Given the description of an element on the screen output the (x, y) to click on. 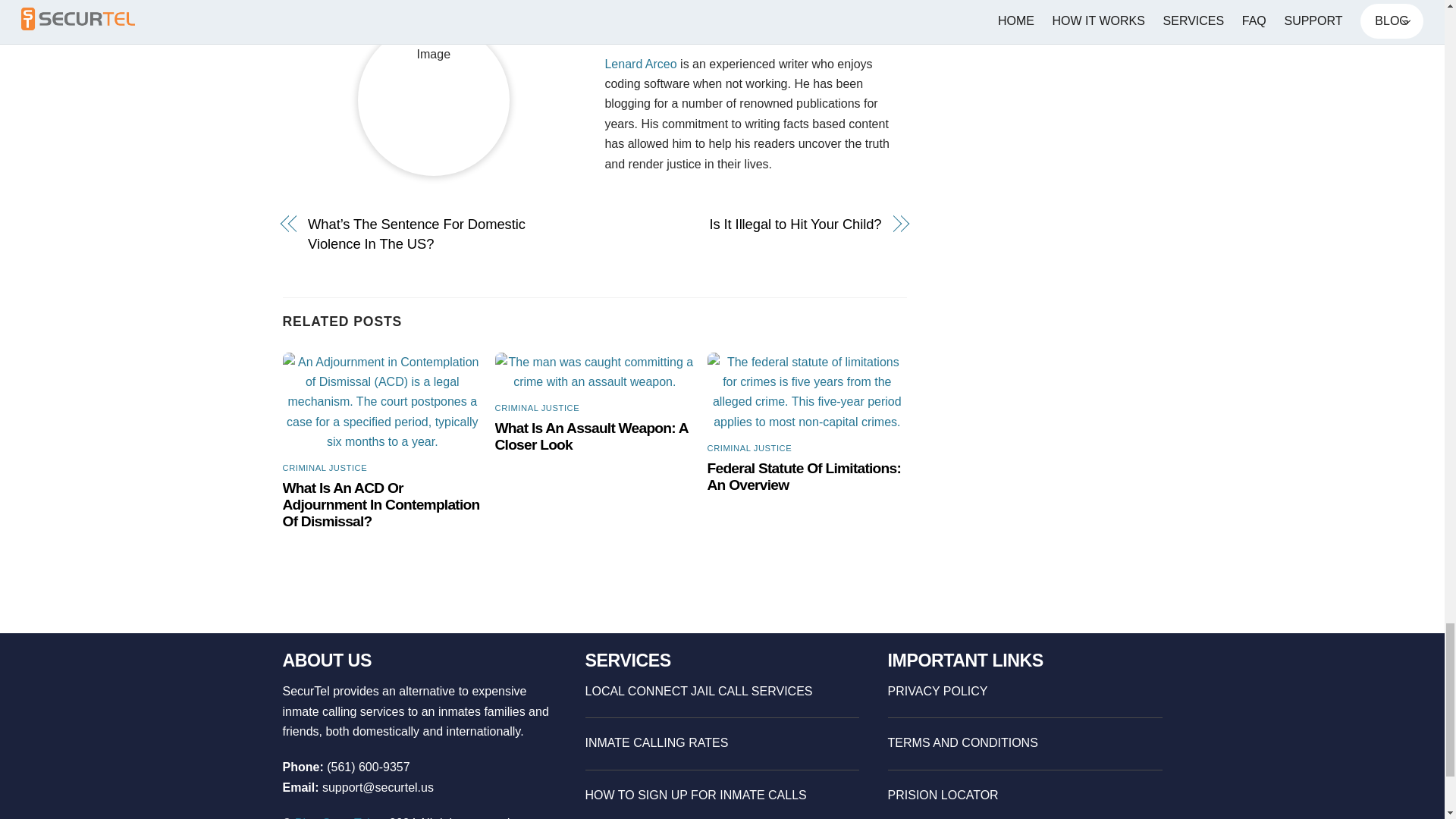
Is It Illegal to Hit Your Child? (746, 224)
CRIMINAL JUSTICE (324, 467)
CRIMINAL JUSTICE (749, 447)
What Is An ACD Or Adjournment In Contemplation Of Dismissal? (380, 504)
Federal Statute Of Limitations: An Overview (804, 476)
Lenard Arceo Author Image (433, 100)
What Is An Assault Weapon: A Closer Look (591, 436)
Lenard Arceo (640, 63)
CRIMINAL JUSTICE (537, 407)
